Given the description of an element on the screen output the (x, y) to click on. 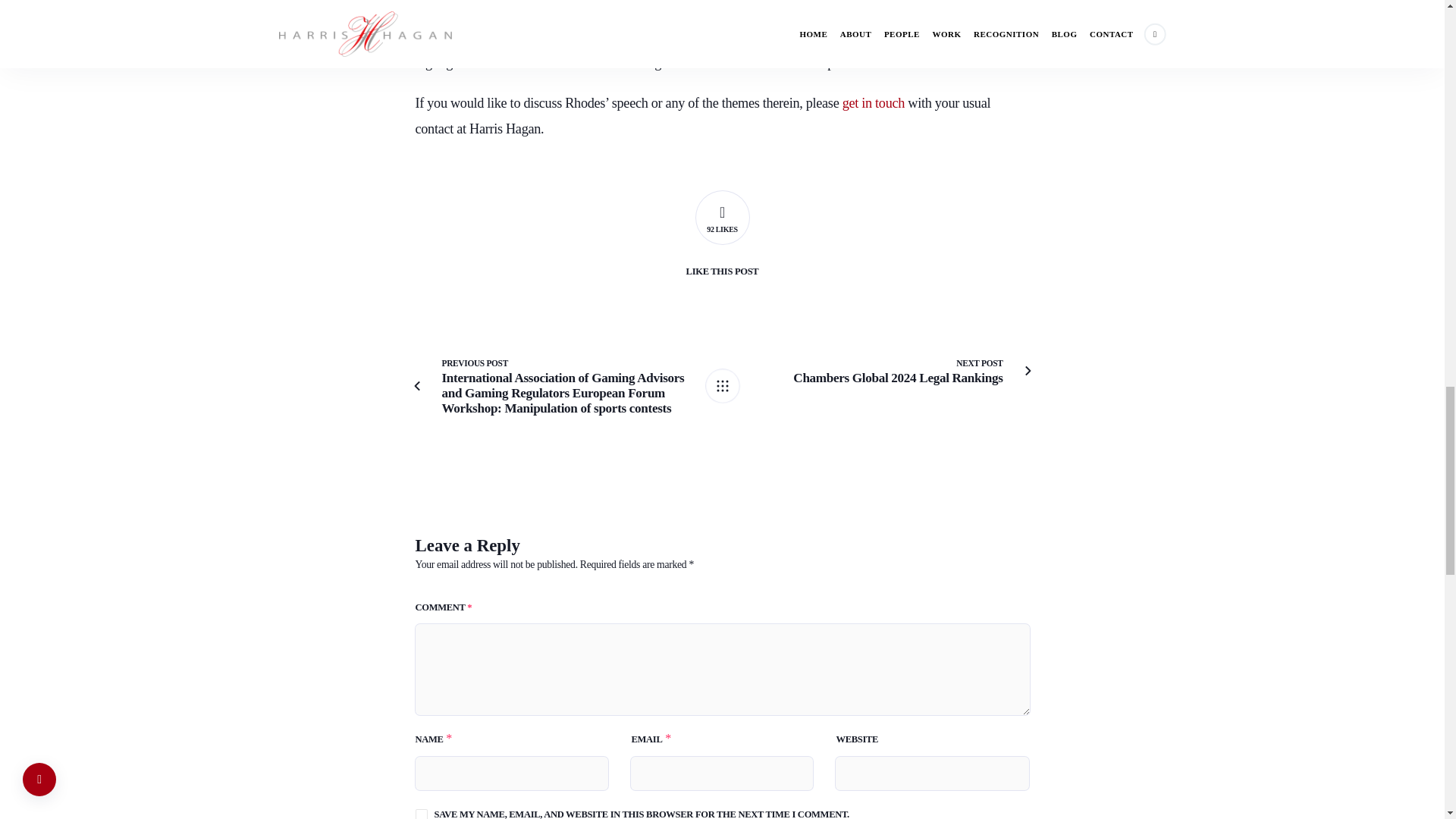
Like (722, 217)
Back (721, 385)
